Given the description of an element on the screen output the (x, y) to click on. 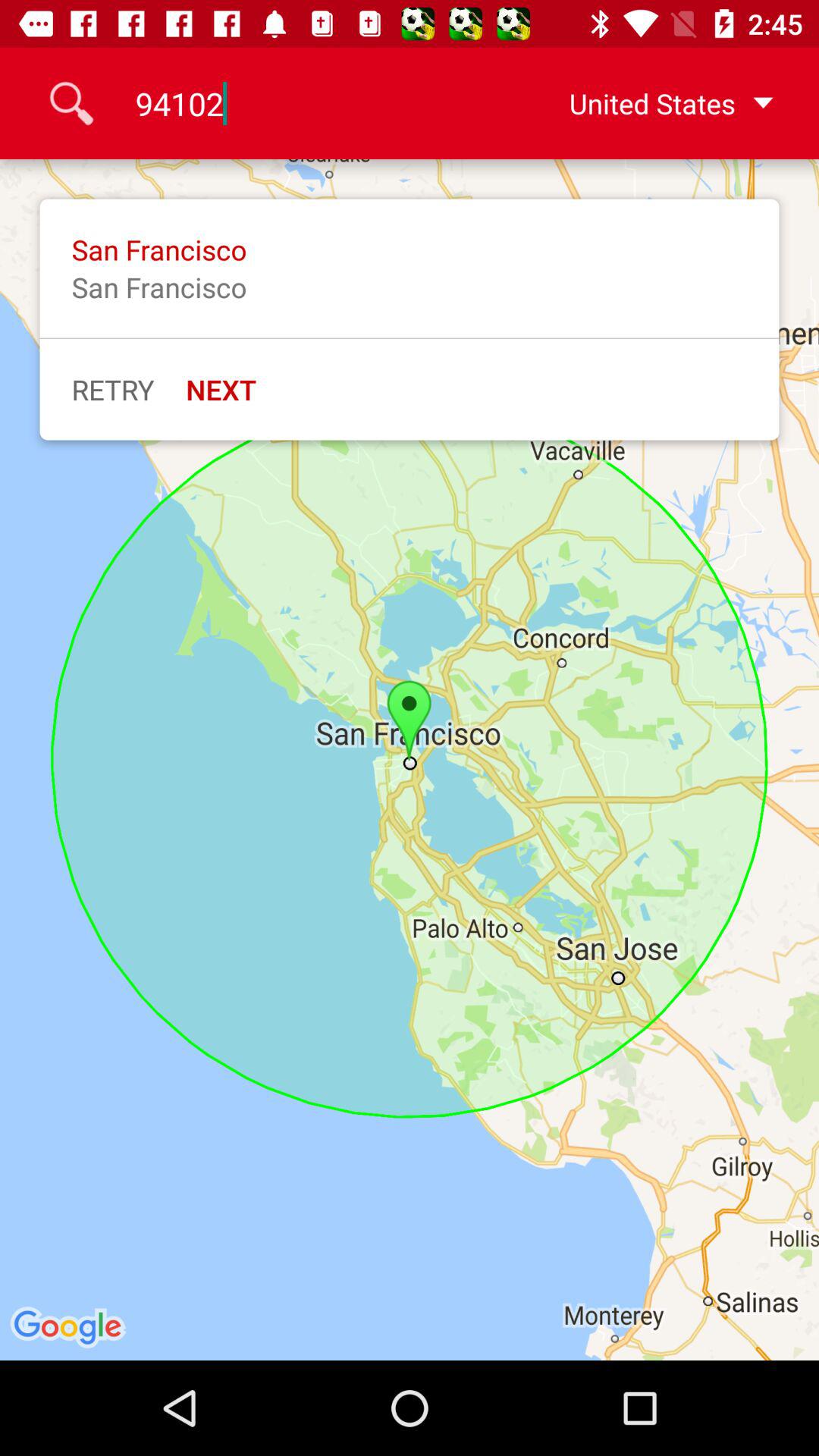
tap retry (112, 389)
